Given the description of an element on the screen output the (x, y) to click on. 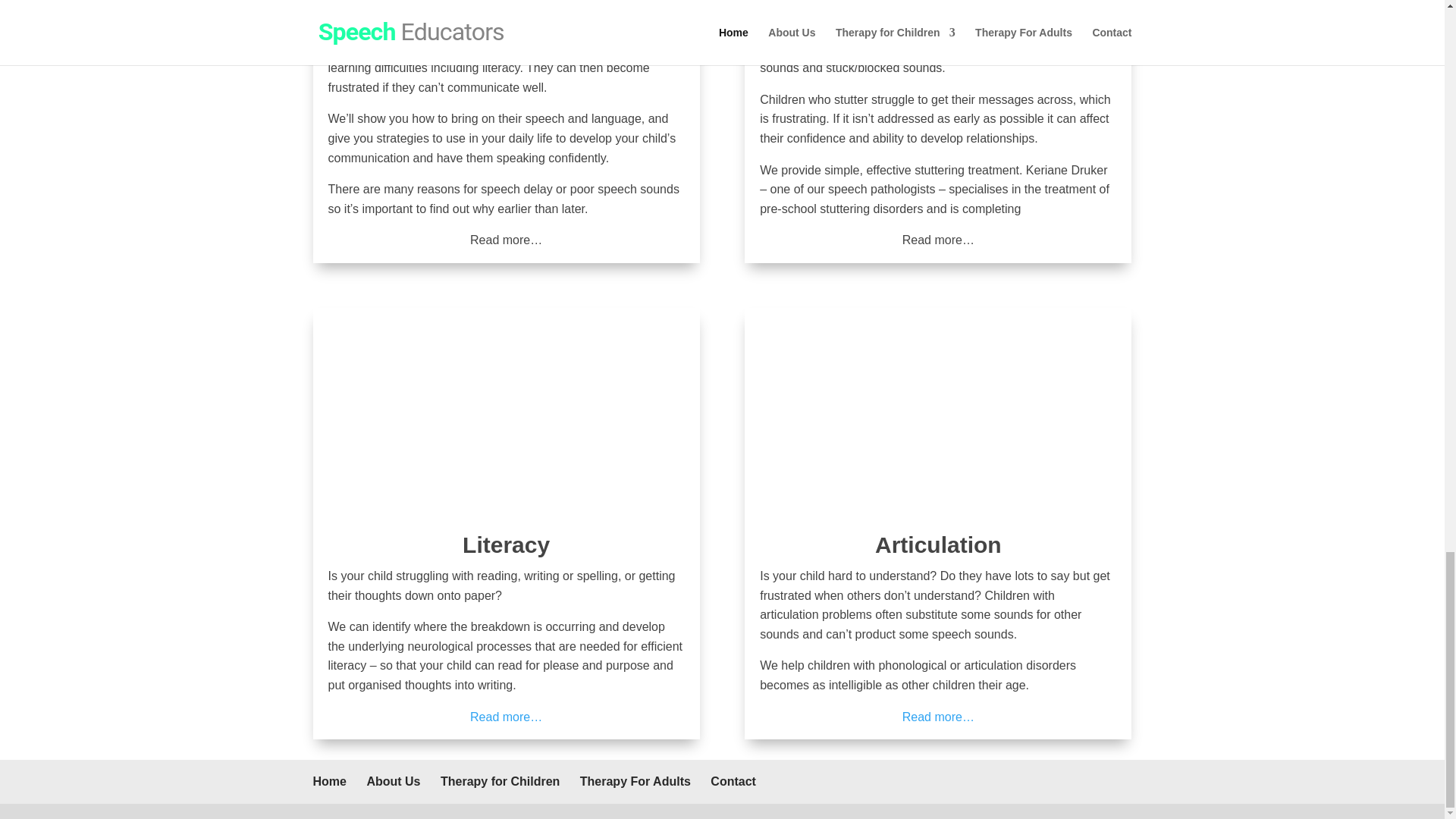
Literacy (506, 544)
Therapy for Children (500, 780)
Articulation (938, 544)
Speech Pathology for Articulation Problems (938, 716)
Speech Pathology for Literacy Problems (505, 716)
About Us (393, 780)
Therapy For Adults (634, 780)
Home (329, 780)
Contact (732, 780)
Speech Therapy for Late Talkers (505, 239)
